Given the description of an element on the screen output the (x, y) to click on. 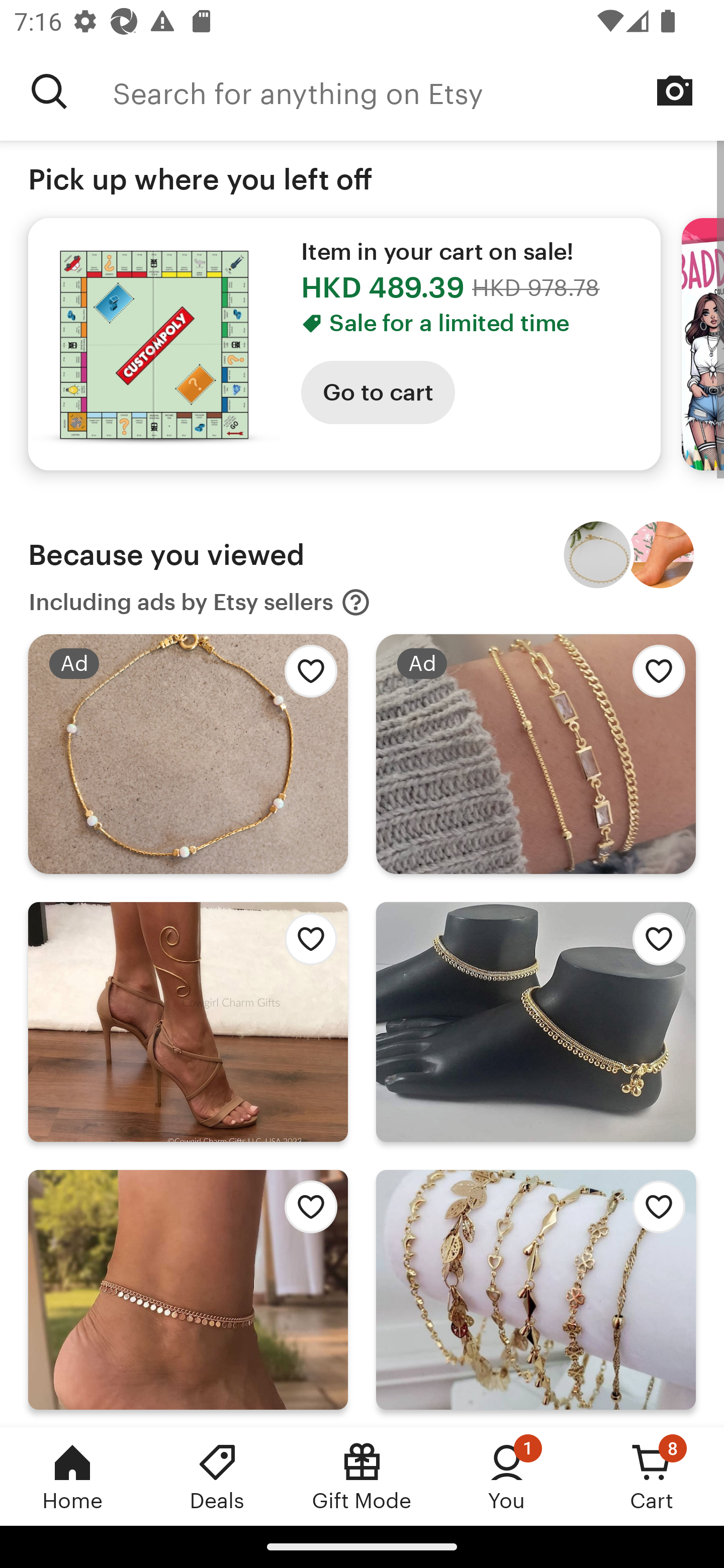
Search for anything on Etsy (49, 91)
Search by image (674, 90)
Search for anything on Etsy (418, 91)
Including ads by Etsy sellers (199, 601)
Deals (216, 1475)
Gift Mode (361, 1475)
You, 1 new notification You (506, 1475)
Cart, 8 new notifications Cart (651, 1475)
